Given the description of an element on the screen output the (x, y) to click on. 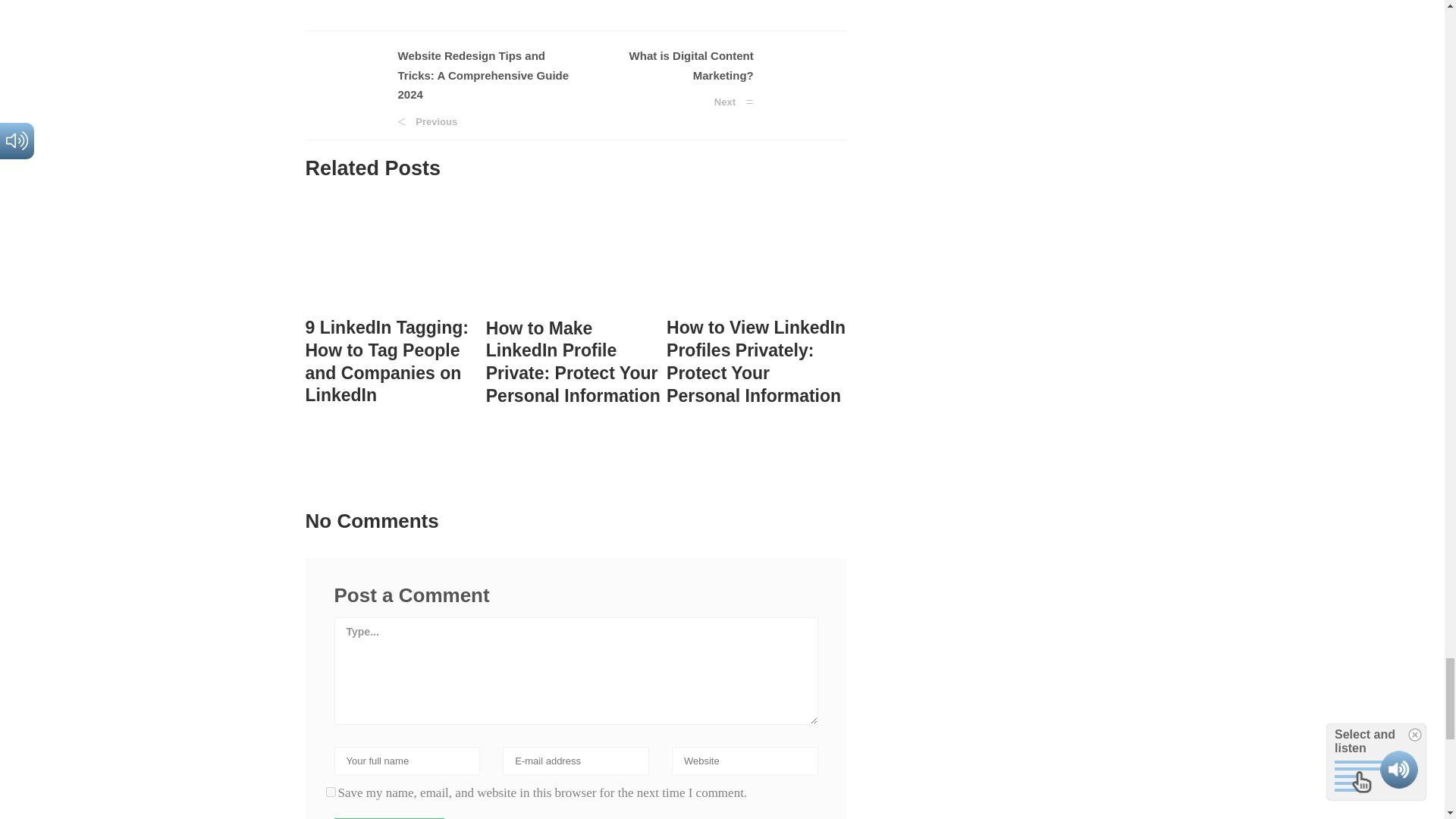
yes (331, 791)
